Given the description of an element on the screen output the (x, y) to click on. 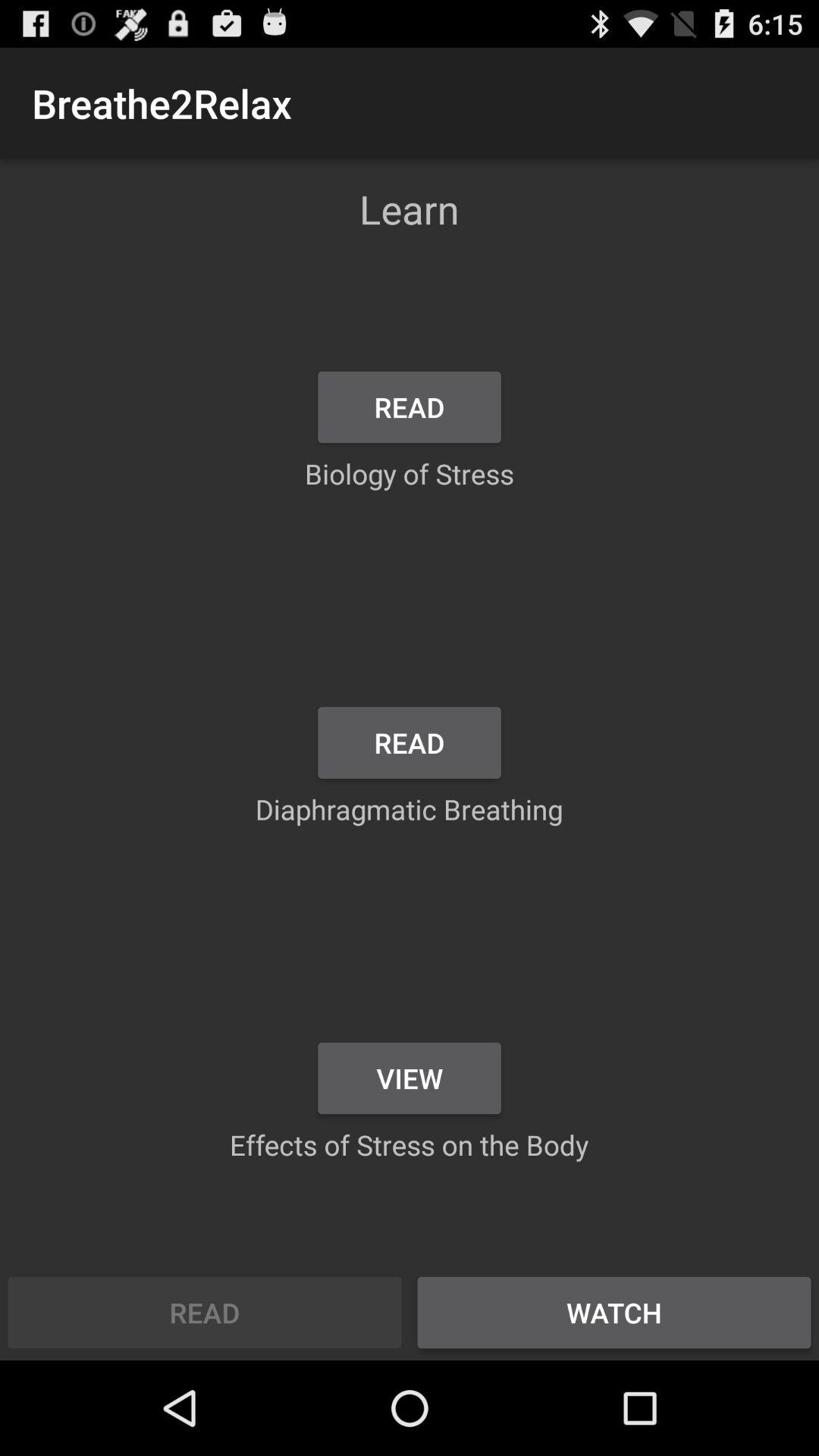
jump to the view item (409, 1078)
